Given the description of an element on the screen output the (x, y) to click on. 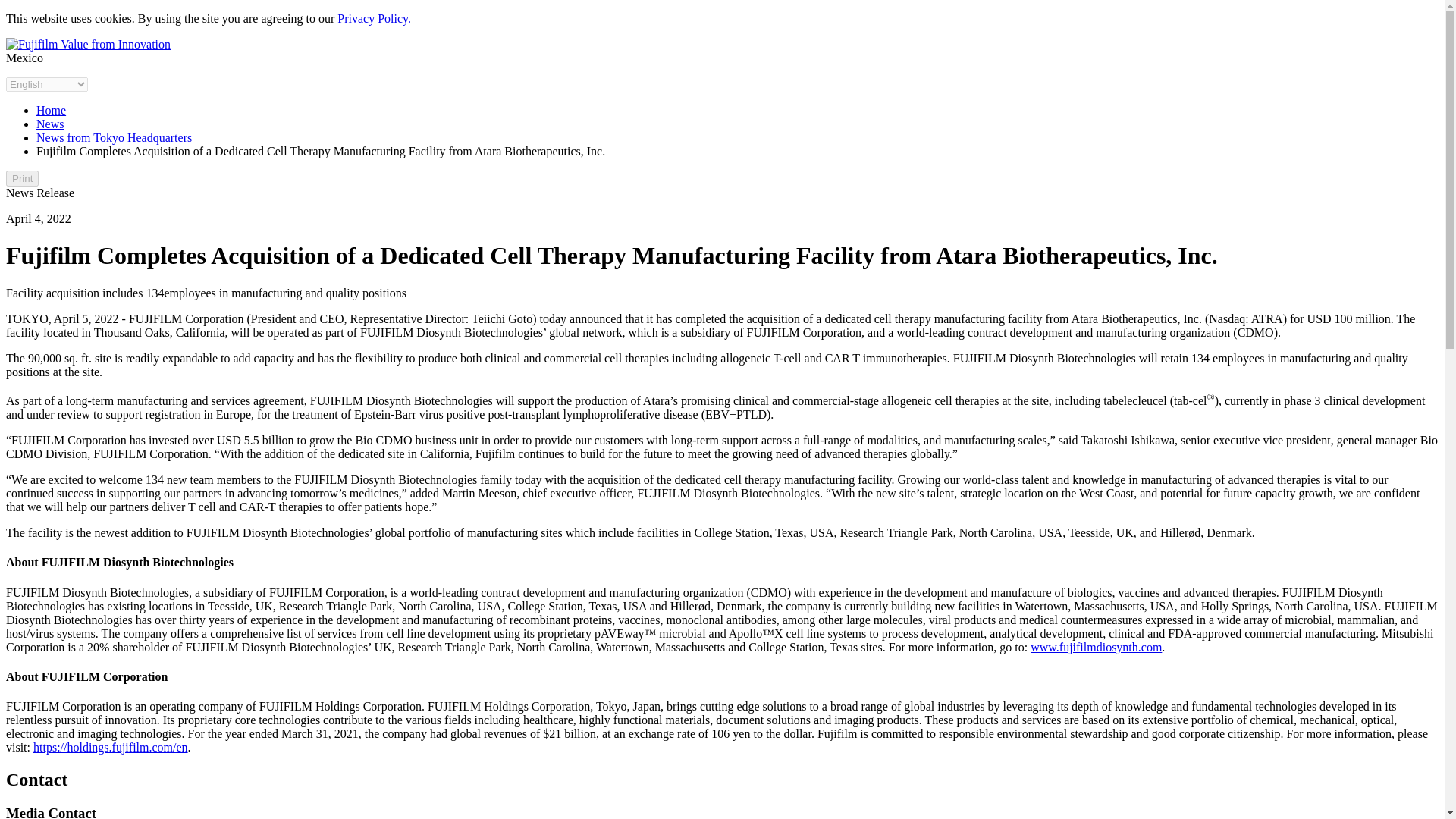
Home (50, 110)
Privacy Policy. (373, 18)
News (50, 123)
www.fujifilmdiosynth.com (1095, 646)
News from Tokyo Headquarters (114, 137)
Print (22, 178)
